Given the description of an element on the screen output the (x, y) to click on. 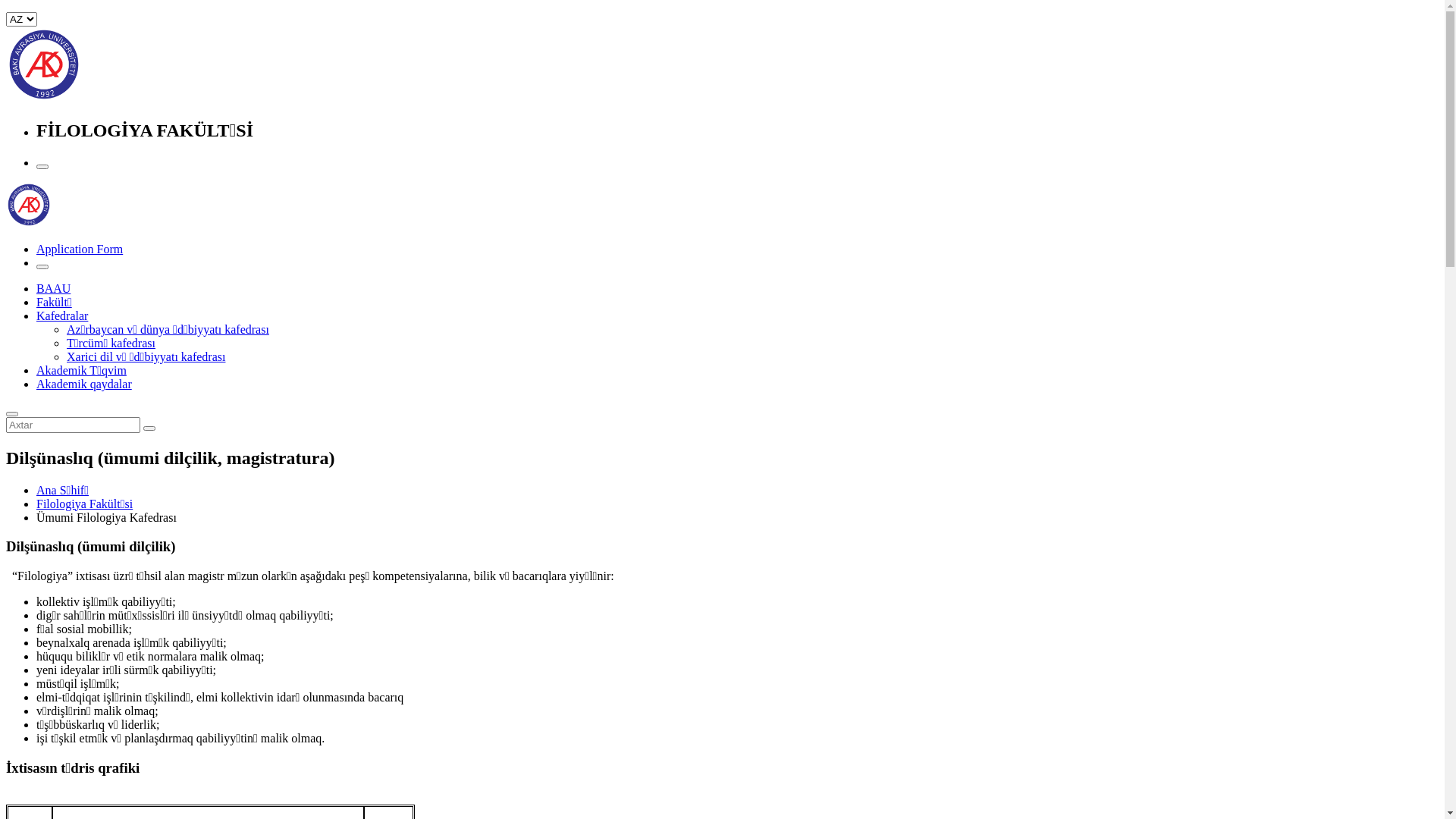
Akademik qaydalar Element type: text (83, 383)
BAAU Element type: text (53, 288)
Kafedralar Element type: text (61, 315)
Application Form Element type: text (79, 248)
